Given the description of an element on the screen output the (x, y) to click on. 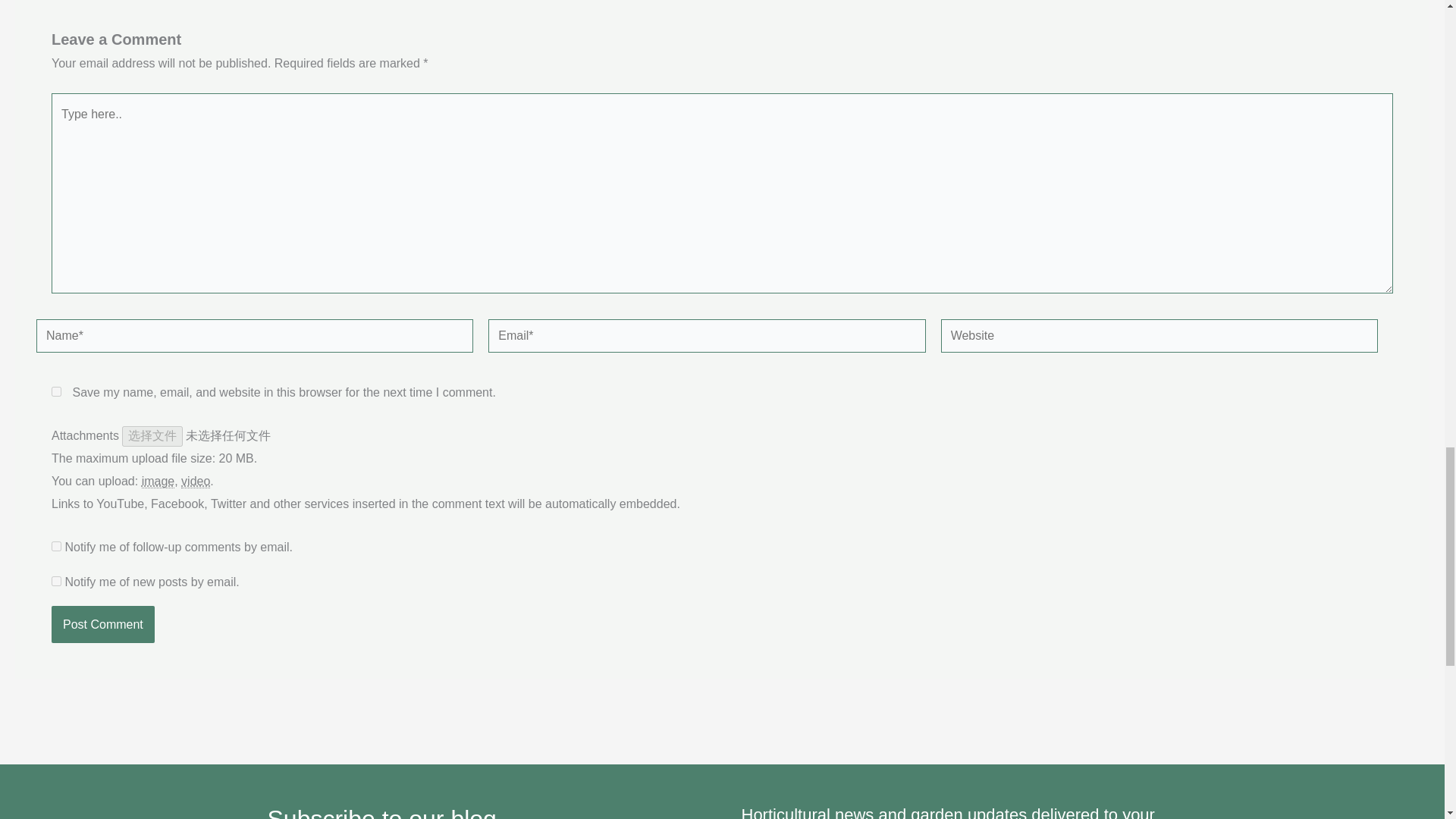
yes (55, 391)
subscribe (55, 581)
jpg, jpeg, jpe, gif, png, bmp, tiff, tif, webp, ico, heic (157, 481)
subscribe (55, 546)
Post Comment (102, 624)
